Given the description of an element on the screen output the (x, y) to click on. 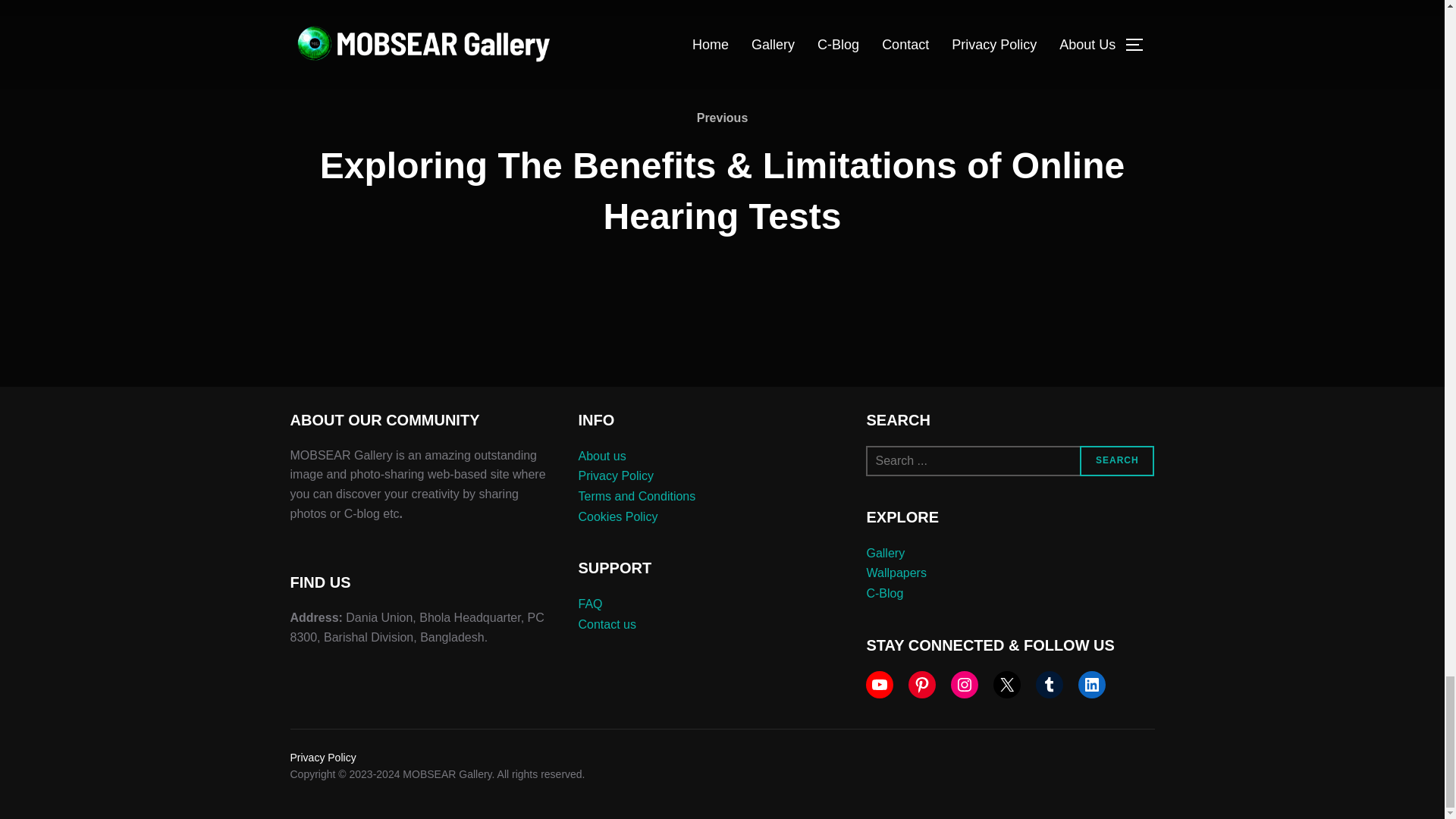
Terms and Conditions (636, 495)
About us (602, 455)
FAQ (590, 603)
Contact us (606, 624)
Cookies Policy (618, 516)
Privacy Policy (615, 475)
